Given the description of an element on the screen output the (x, y) to click on. 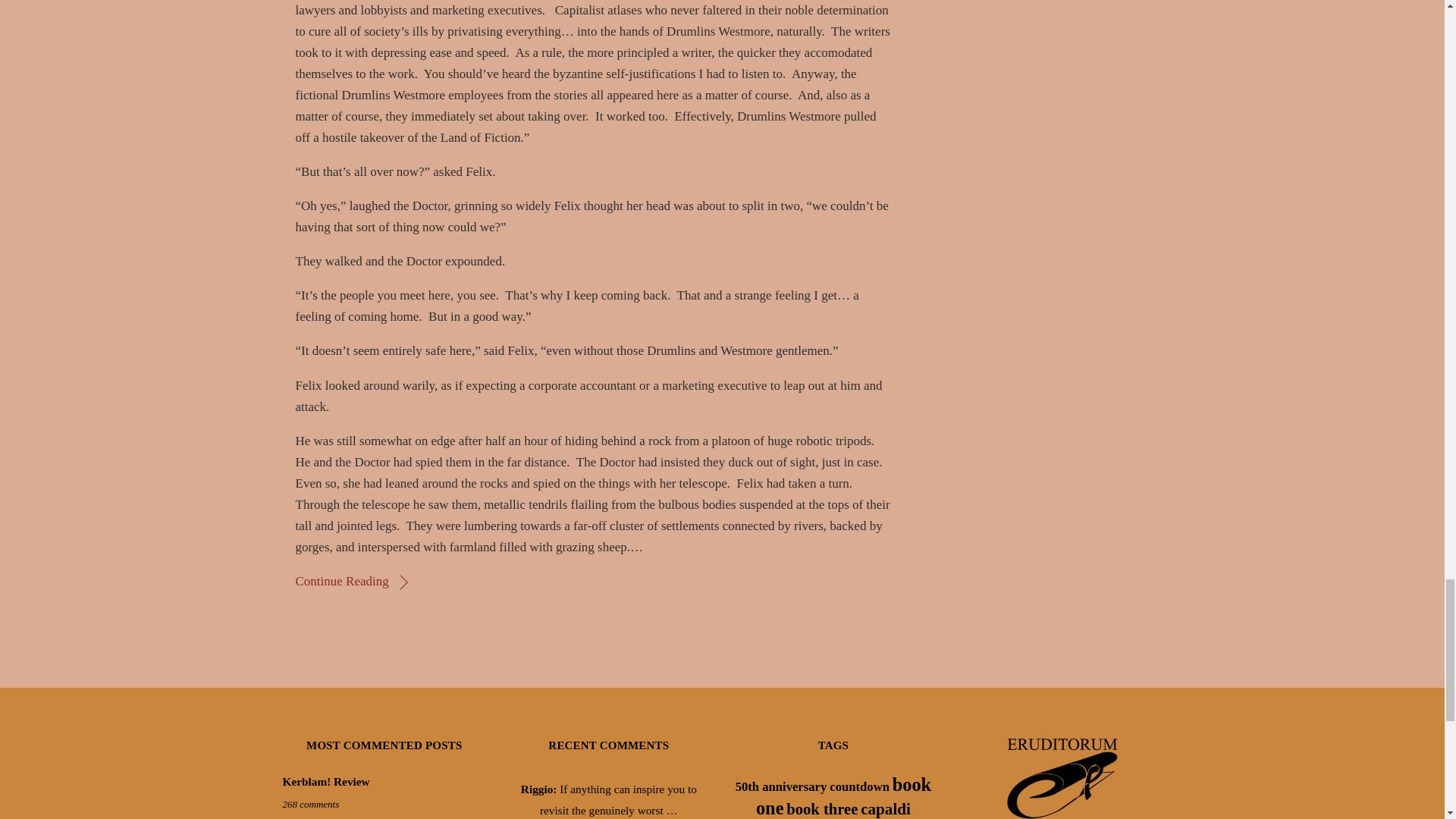
Eruditorum Press Logo (1062, 773)
